Given the description of an element on the screen output the (x, y) to click on. 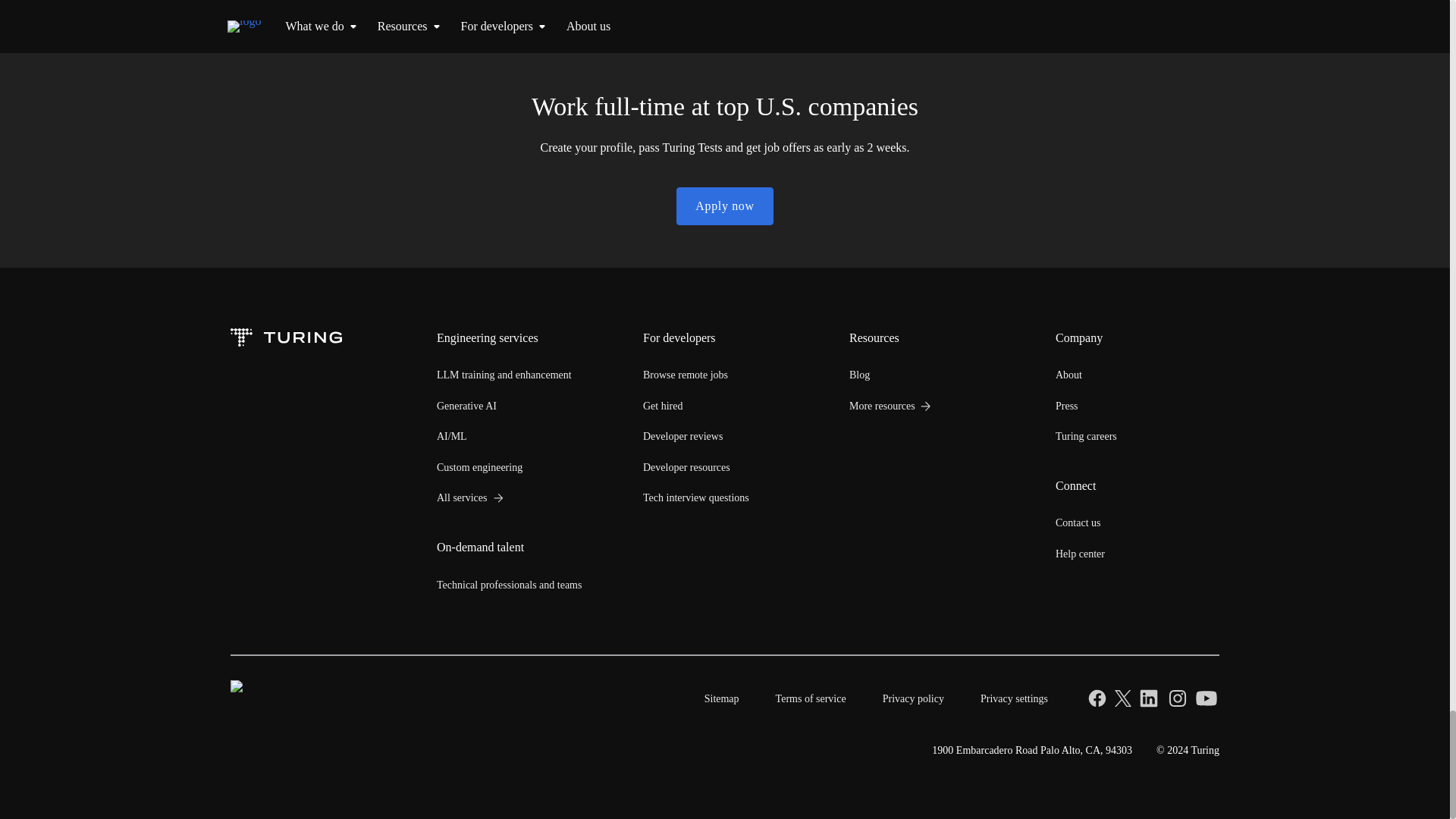
Apply now (725, 206)
